Given the description of an element on the screen output the (x, y) to click on. 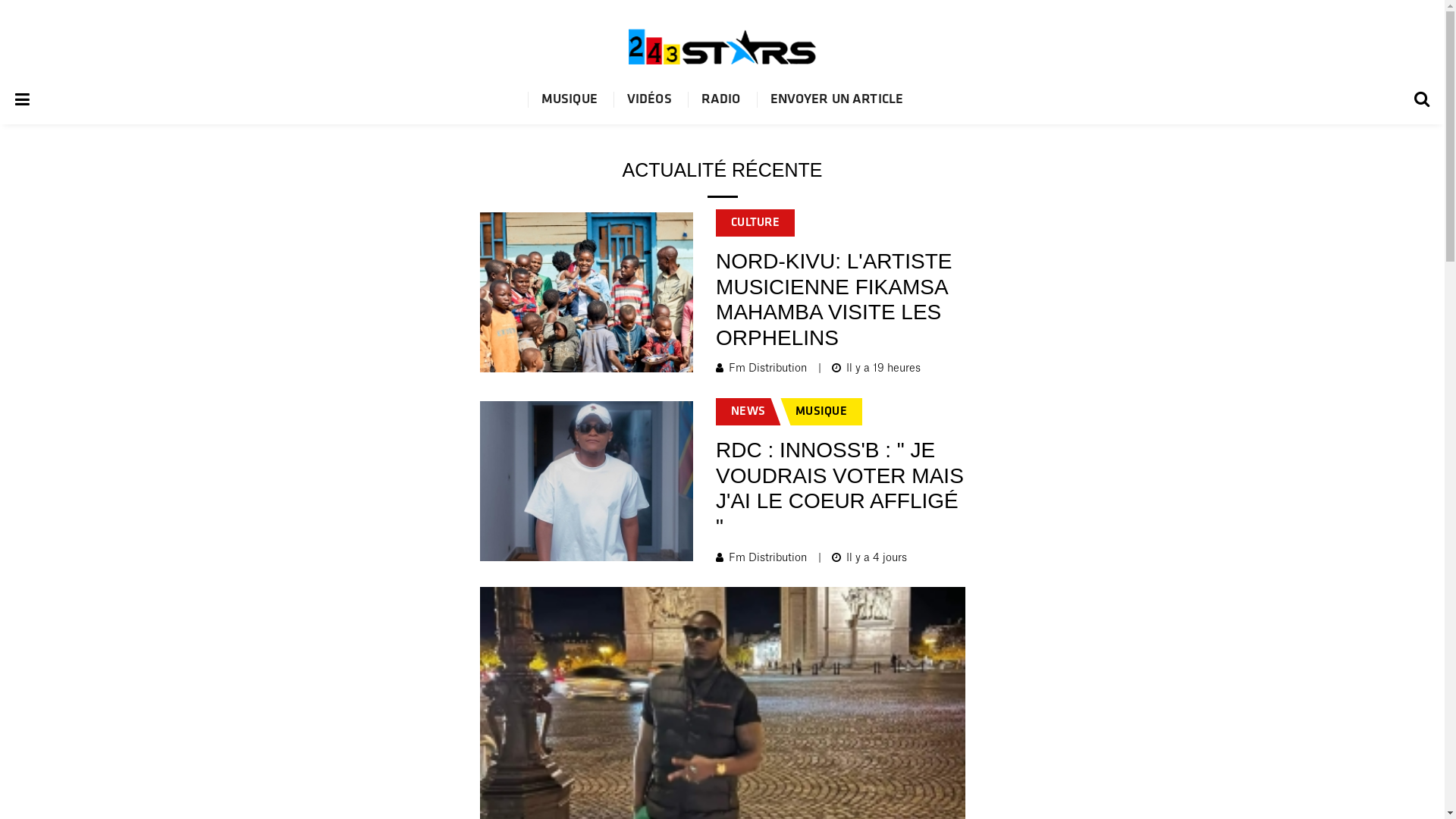
ENVOYER UN ARTICLE Element type: text (836, 100)
RADIO Element type: text (720, 100)
MUSIQUE Element type: text (569, 100)
